Given the description of an element on the screen output the (x, y) to click on. 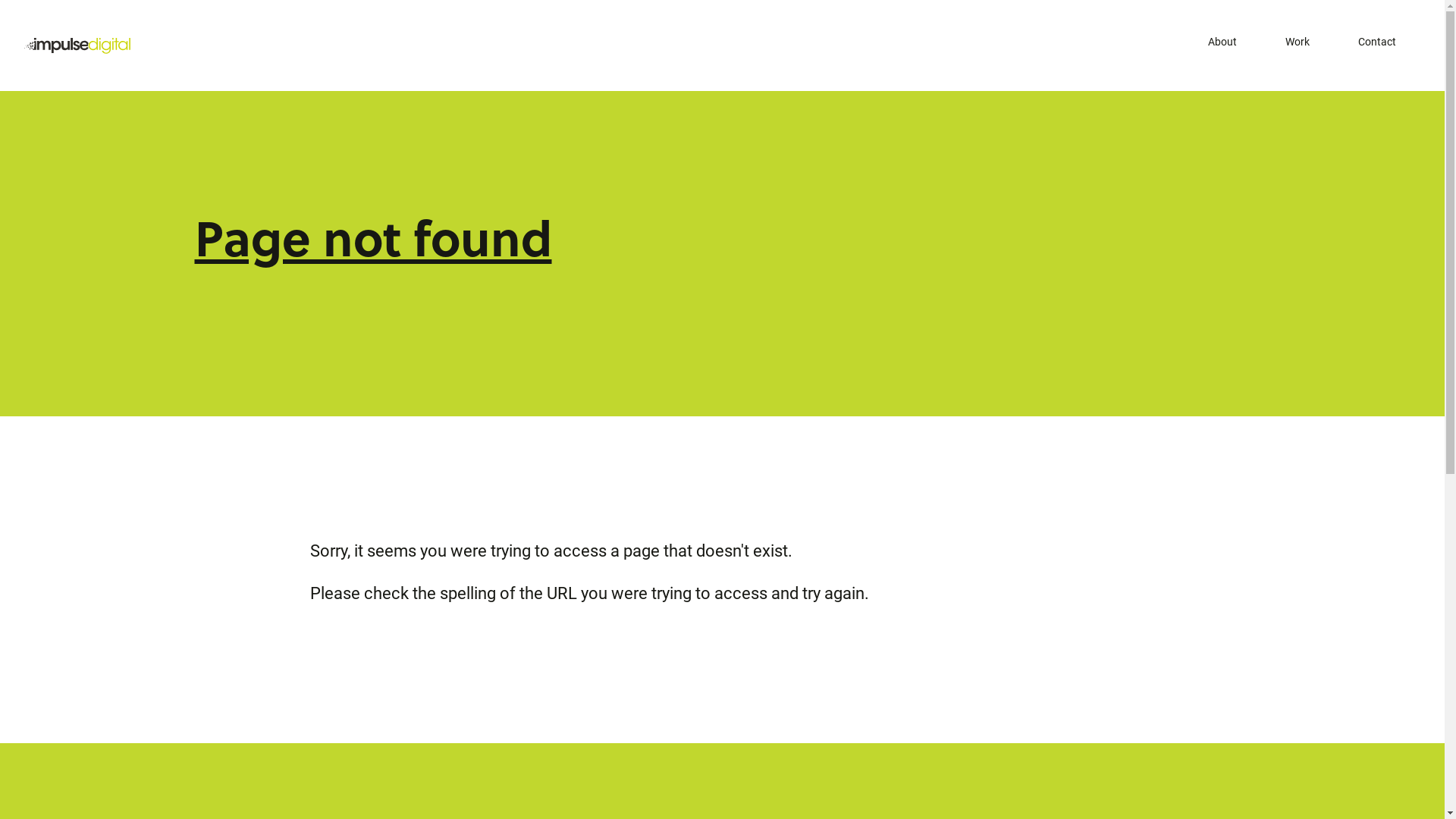
About Element type: text (1222, 40)
Work Element type: text (1297, 40)
Contact Element type: text (1377, 40)
